Given the description of an element on the screen output the (x, y) to click on. 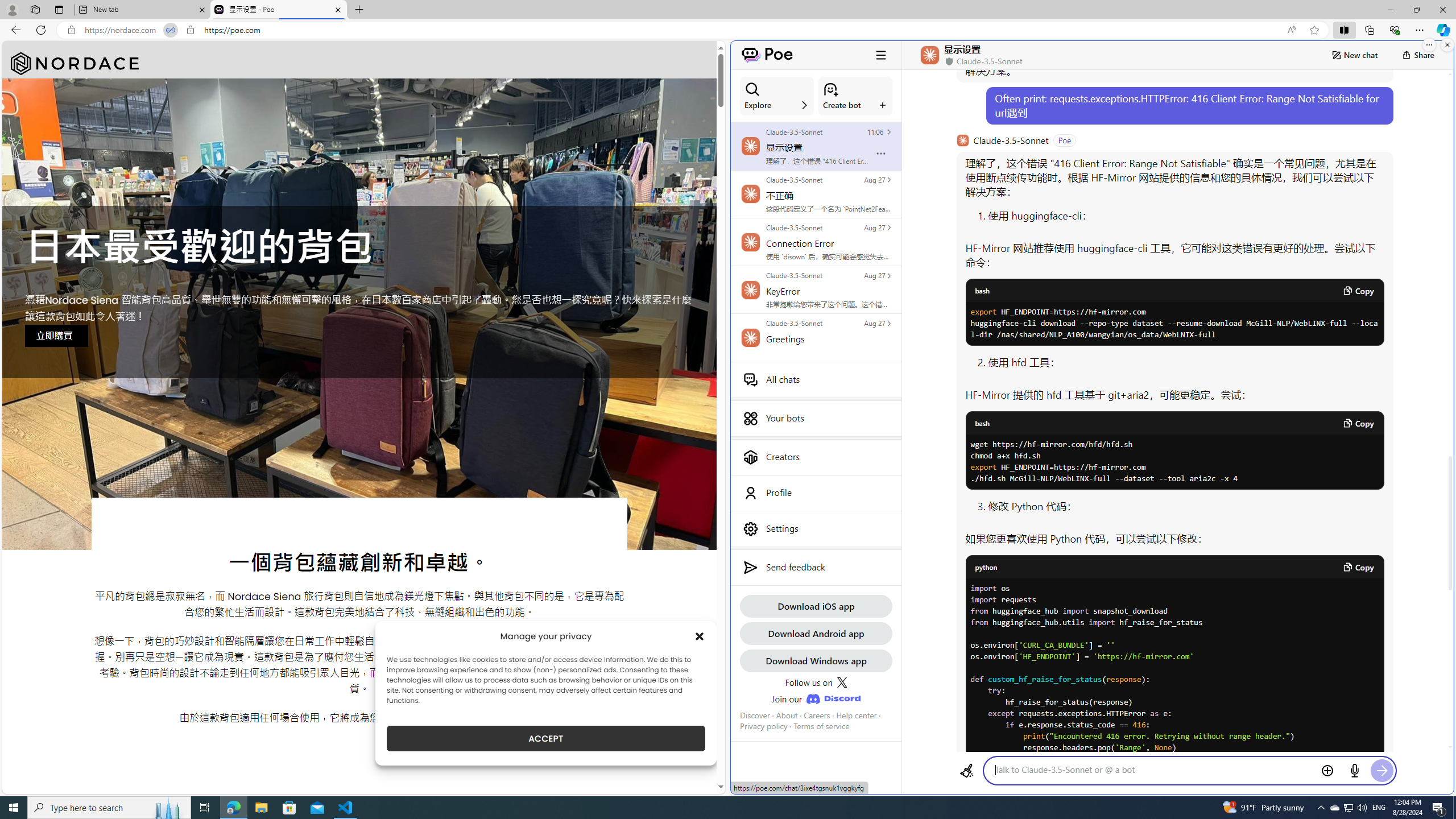
Tab actions menu (58, 9)
Copy (1357, 566)
